Given the description of an element on the screen output the (x, y) to click on. 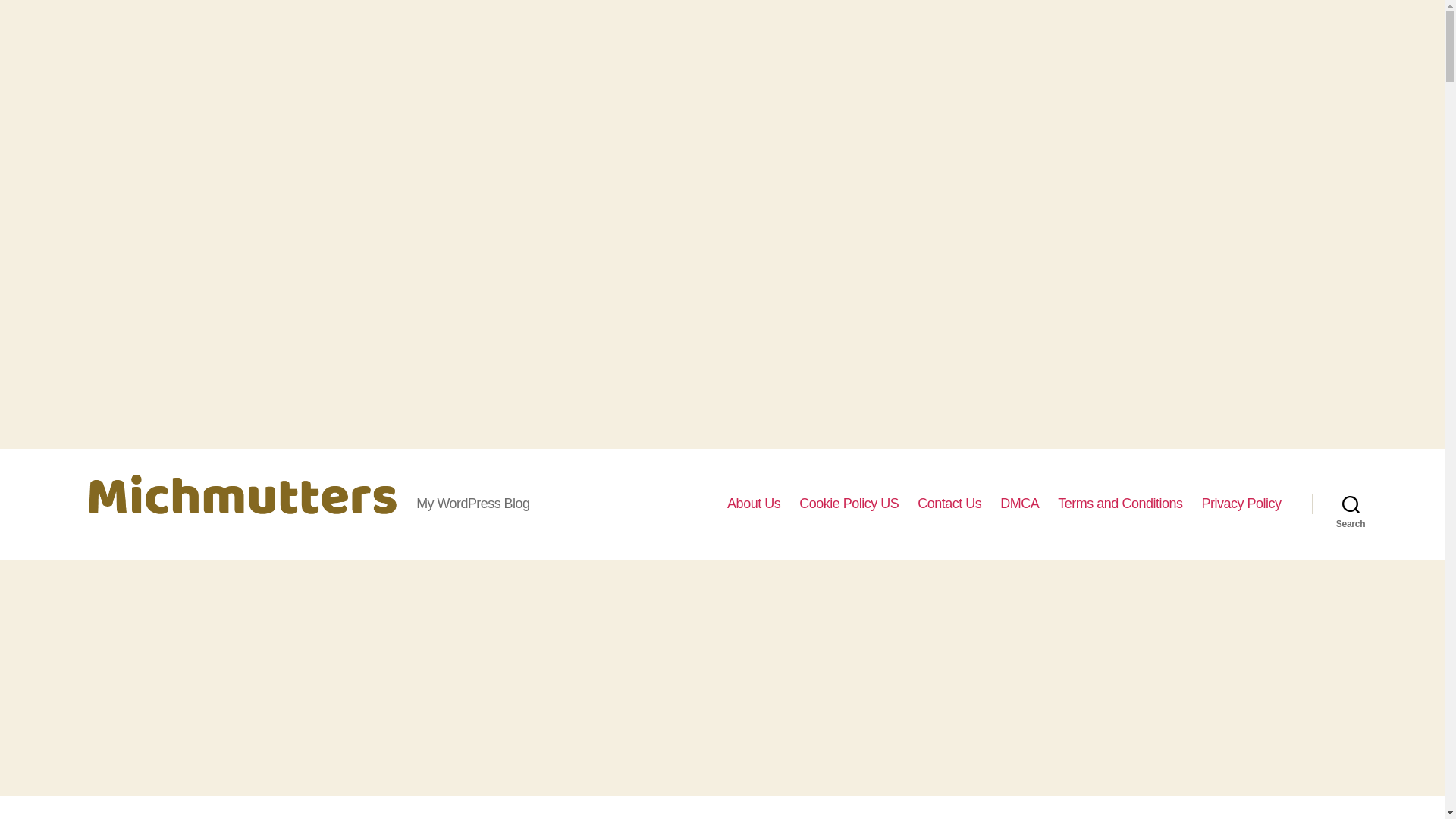
DMCA (1019, 504)
Terms and Conditions (1120, 504)
Contact Us (949, 504)
Privacy Policy (1241, 504)
About Us (753, 504)
Search (1350, 503)
Cookie Policy US (848, 504)
